Given the description of an element on the screen output the (x, y) to click on. 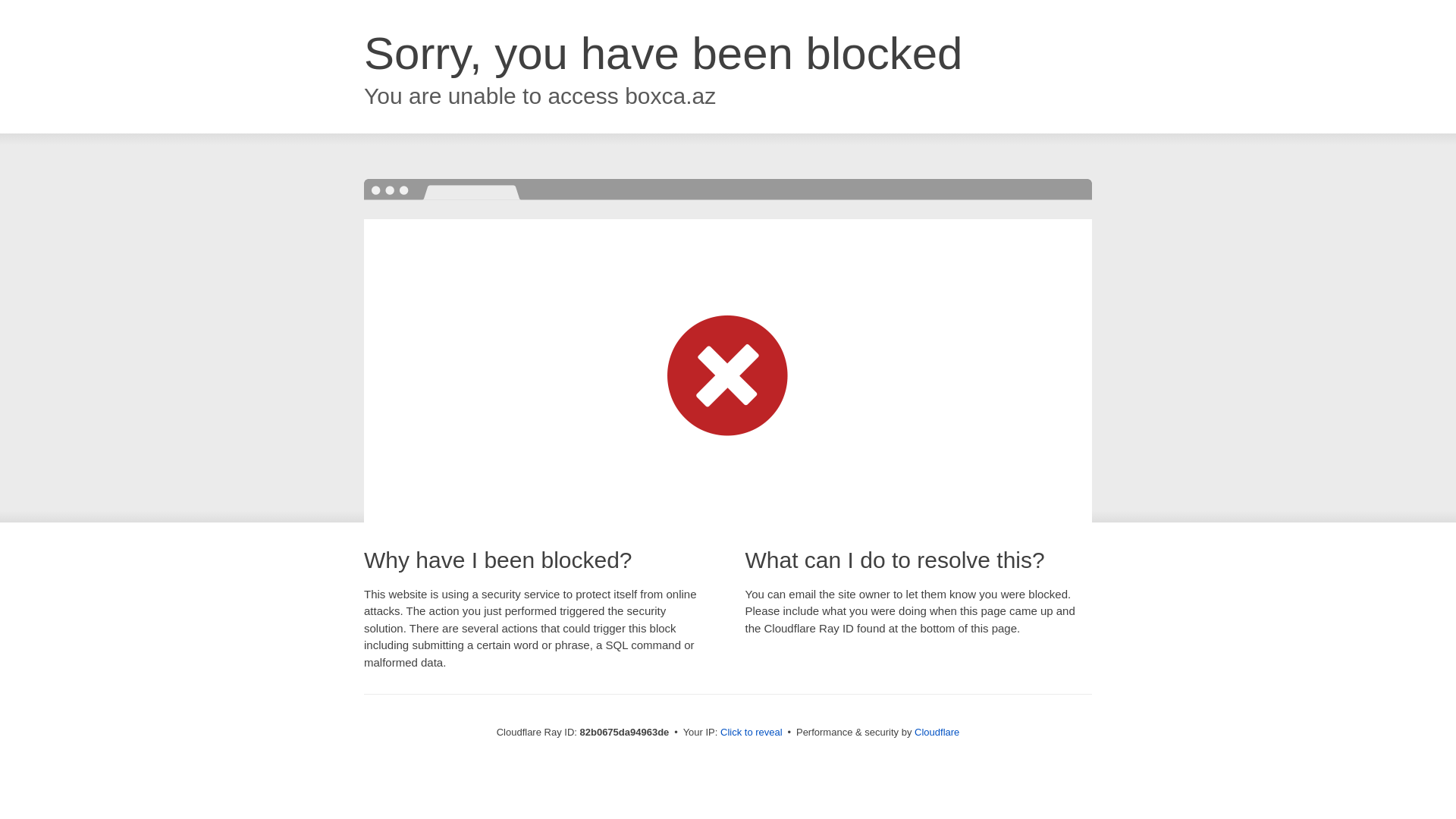
Cloudflare Element type: text (936, 731)
Click to reveal Element type: text (751, 732)
